Given the description of an element on the screen output the (x, y) to click on. 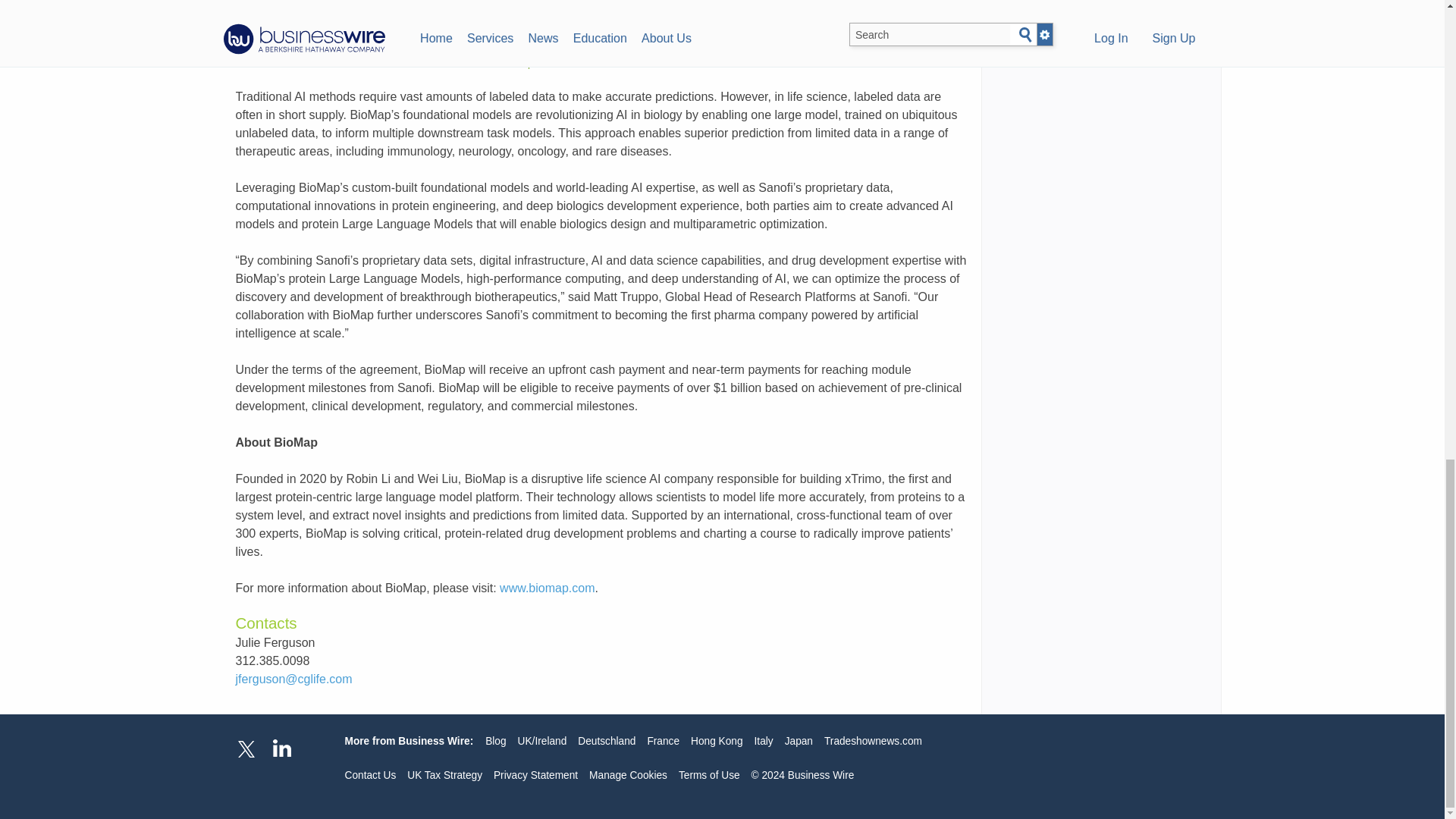
Post this (269, 49)
www.biomap.com (546, 587)
